Given the description of an element on the screen output the (x, y) to click on. 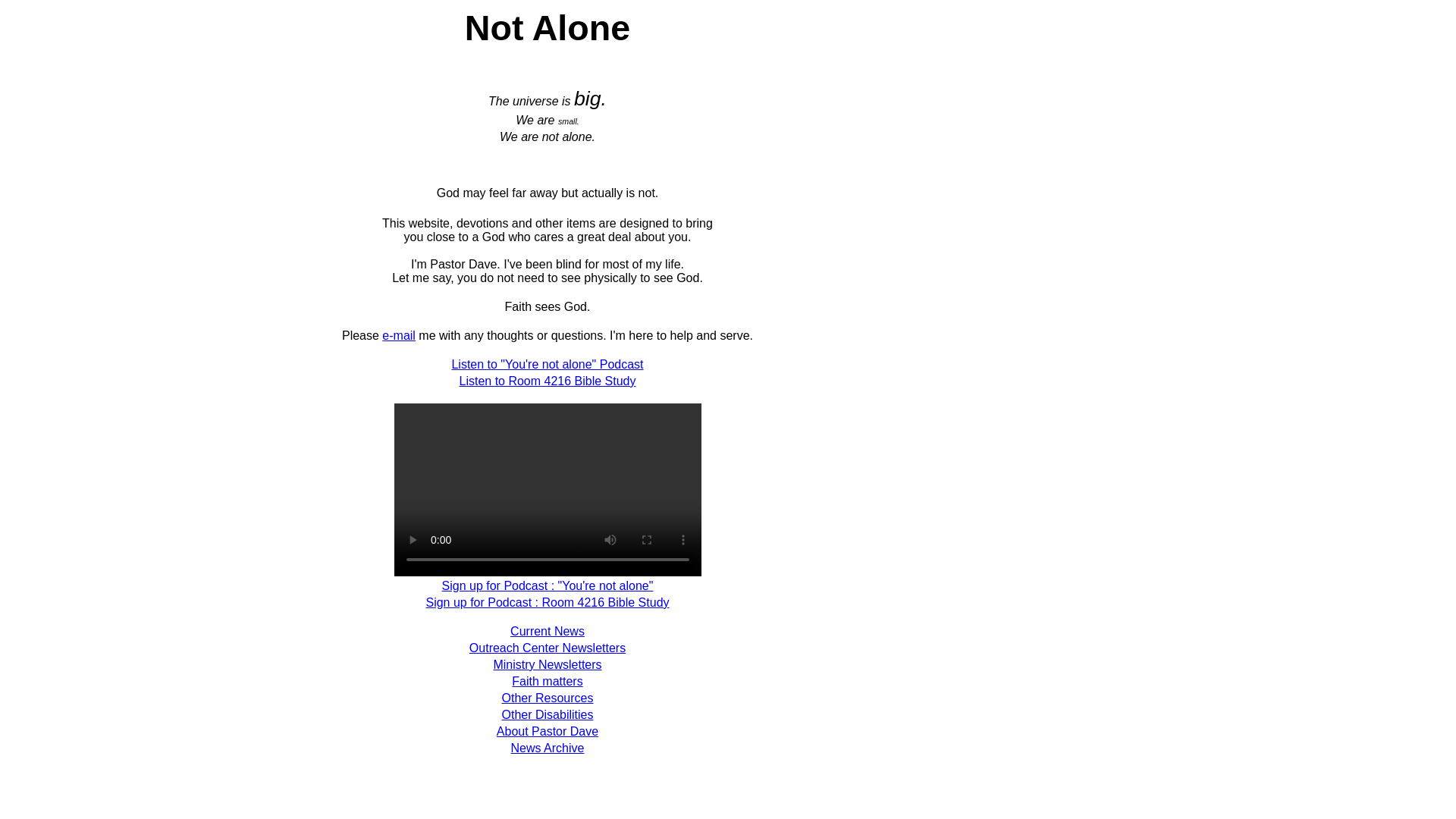
Other Disabilities (548, 714)
Sign up for Podcast : Room 4216 Bible Study (546, 602)
Faith matters (547, 680)
Outreach Center Newsletters (547, 647)
e-mail (397, 335)
Other Resources (548, 697)
About Pastor Dave (547, 730)
Sign up for Podcast : "You're not alone" (547, 585)
e-mail pastor dave (397, 335)
News Archive (548, 748)
Ministry Newsletters (547, 664)
Listen to "You're not alone" Podcast (547, 364)
Listen to Room 4216 Bible Study (546, 380)
Current News (548, 631)
